Given the description of an element on the screen output the (x, y) to click on. 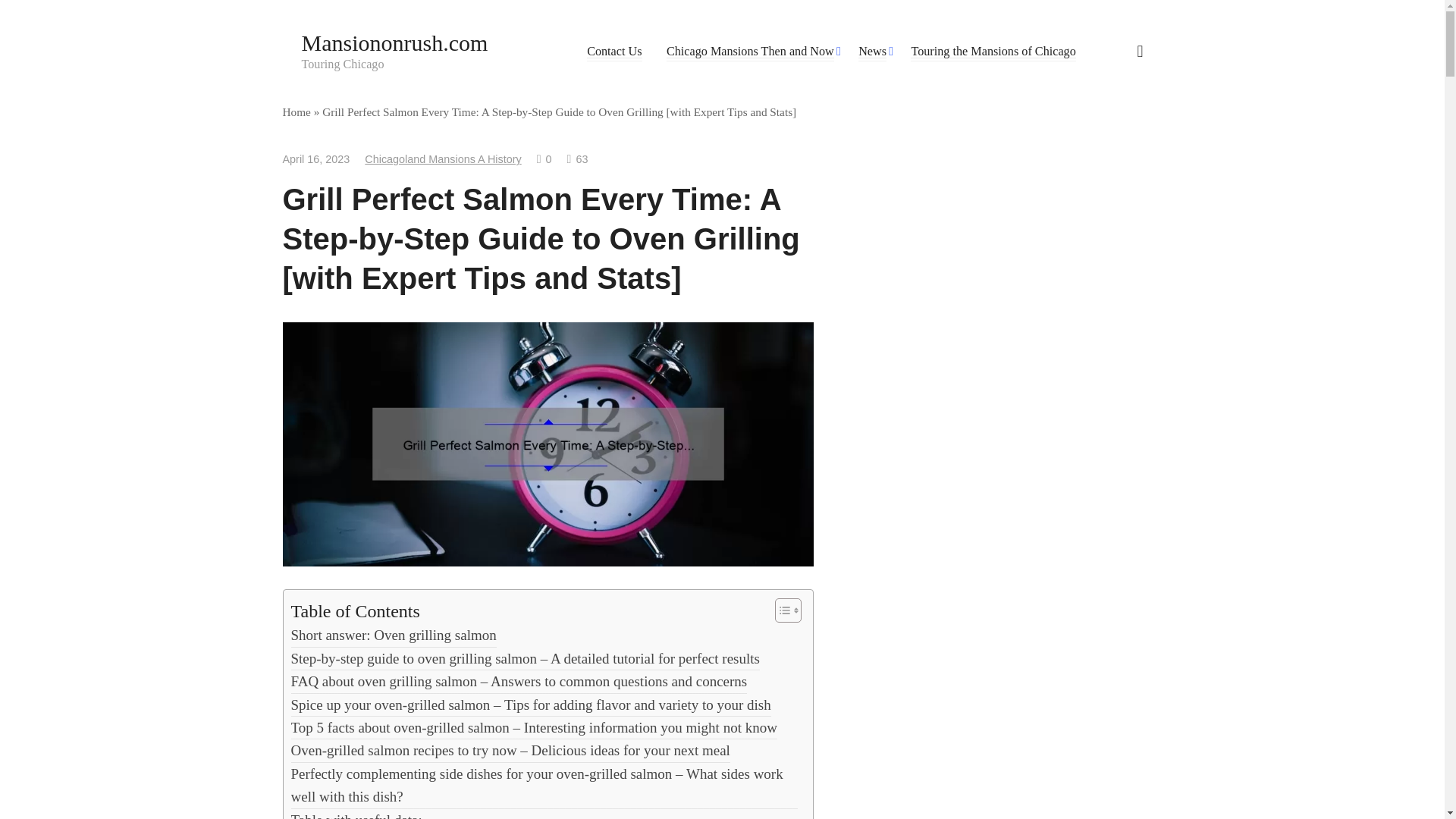
Contact Us (614, 51)
Short answer: Oven grilling salmon (393, 635)
Touring the Mansions of Chicago (993, 51)
Mansiononrush.com (394, 42)
News (872, 51)
Table with useful data: (356, 814)
Chicago Mansions Then and Now (750, 51)
Table with useful data: (356, 814)
Home (296, 111)
Short answer: Oven grilling salmon (393, 635)
Chicagoland Mansions A History (443, 159)
